Given the description of an element on the screen output the (x, y) to click on. 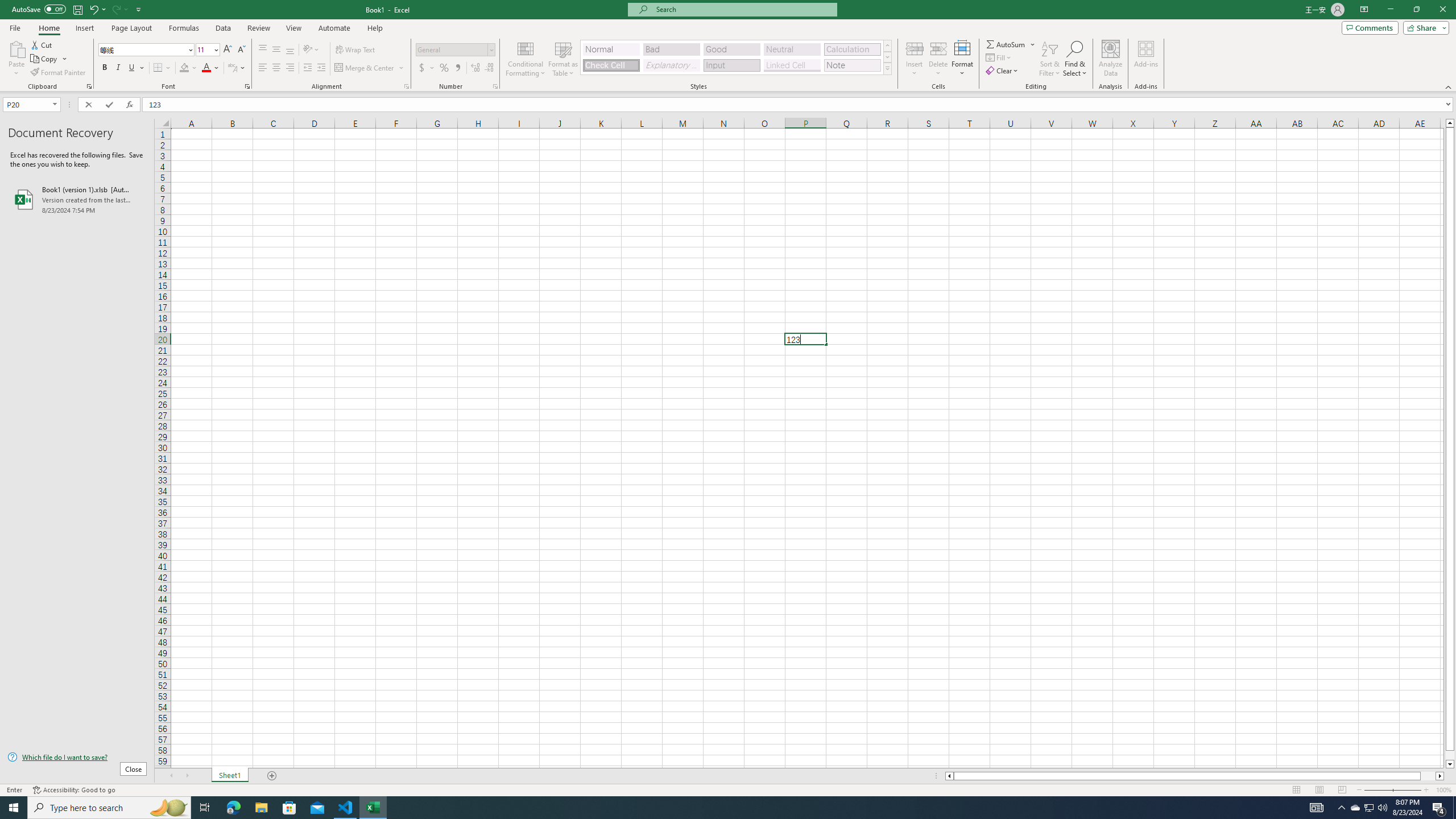
Input (731, 65)
Bottom Border (157, 67)
Sort & Filter (1049, 58)
Accounting Number Format (422, 67)
Note (852, 65)
Delete (938, 58)
AutomationID: CellStylesGallery (736, 57)
